Given the description of an element on the screen output the (x, y) to click on. 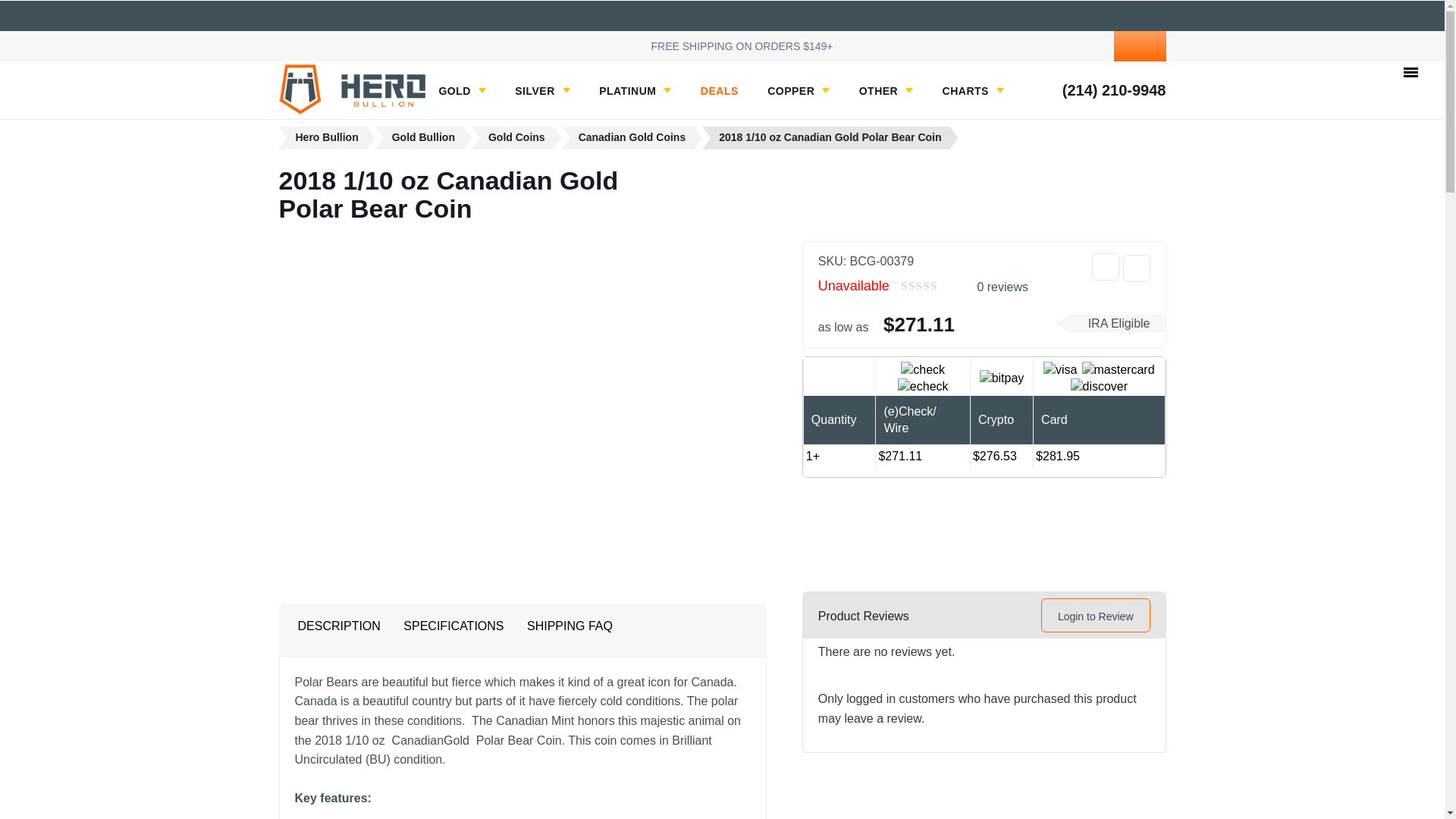
Cart (1139, 46)
GOLD (461, 91)
Search (1026, 46)
Compare (1136, 267)
Share (1105, 266)
SILVER (542, 91)
